Given the description of an element on the screen output the (x, y) to click on. 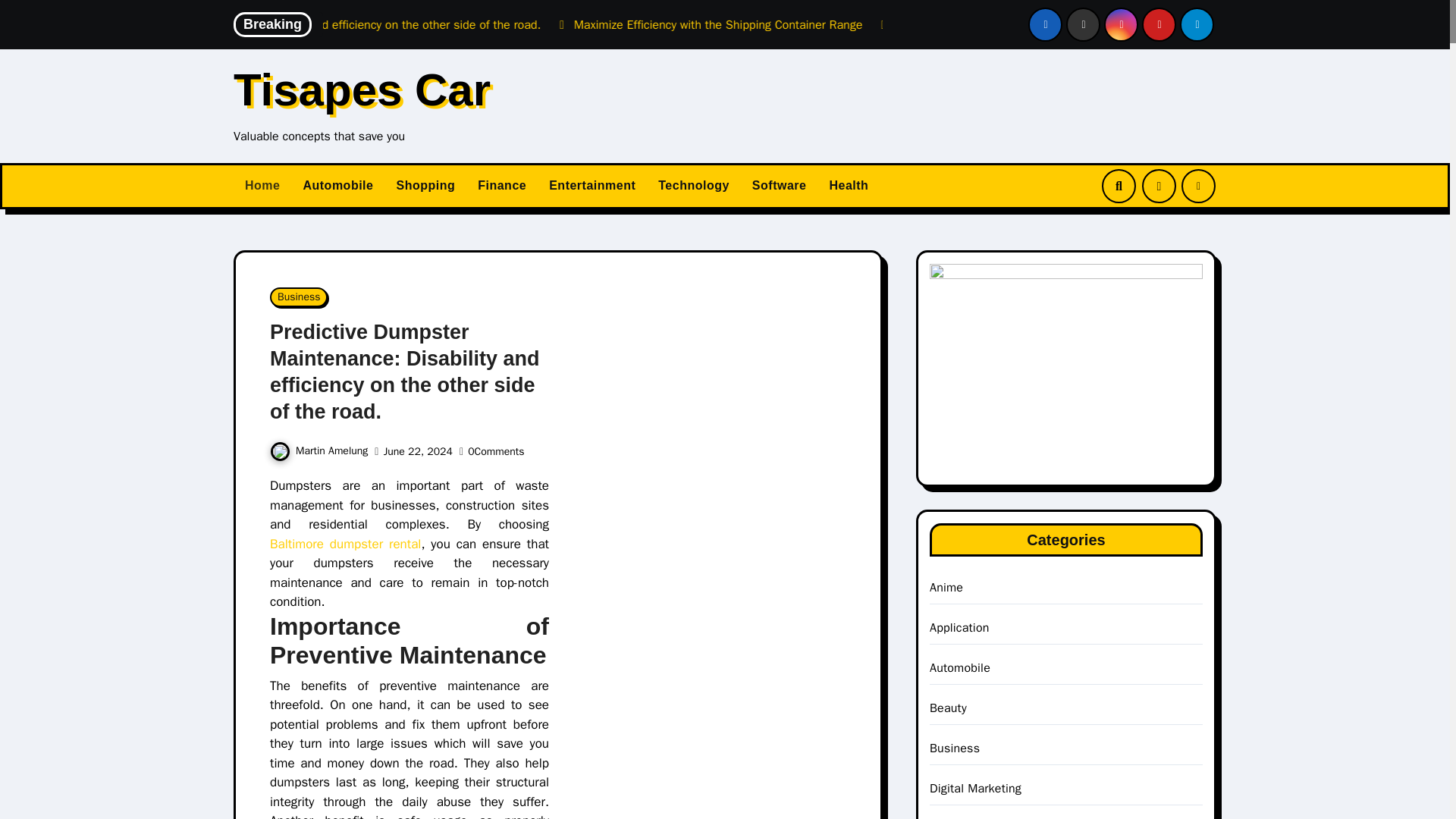
Tisapes Car (361, 89)
Entertainment (591, 186)
0Comments (495, 451)
Shopping (424, 186)
Software (779, 186)
Home (261, 186)
Automobile (337, 186)
Finance (501, 186)
Business (298, 297)
Technology (693, 186)
Health (847, 186)
Health (847, 186)
Technology (693, 186)
Baltimore dumpster rental (344, 544)
